Given the description of an element on the screen output the (x, y) to click on. 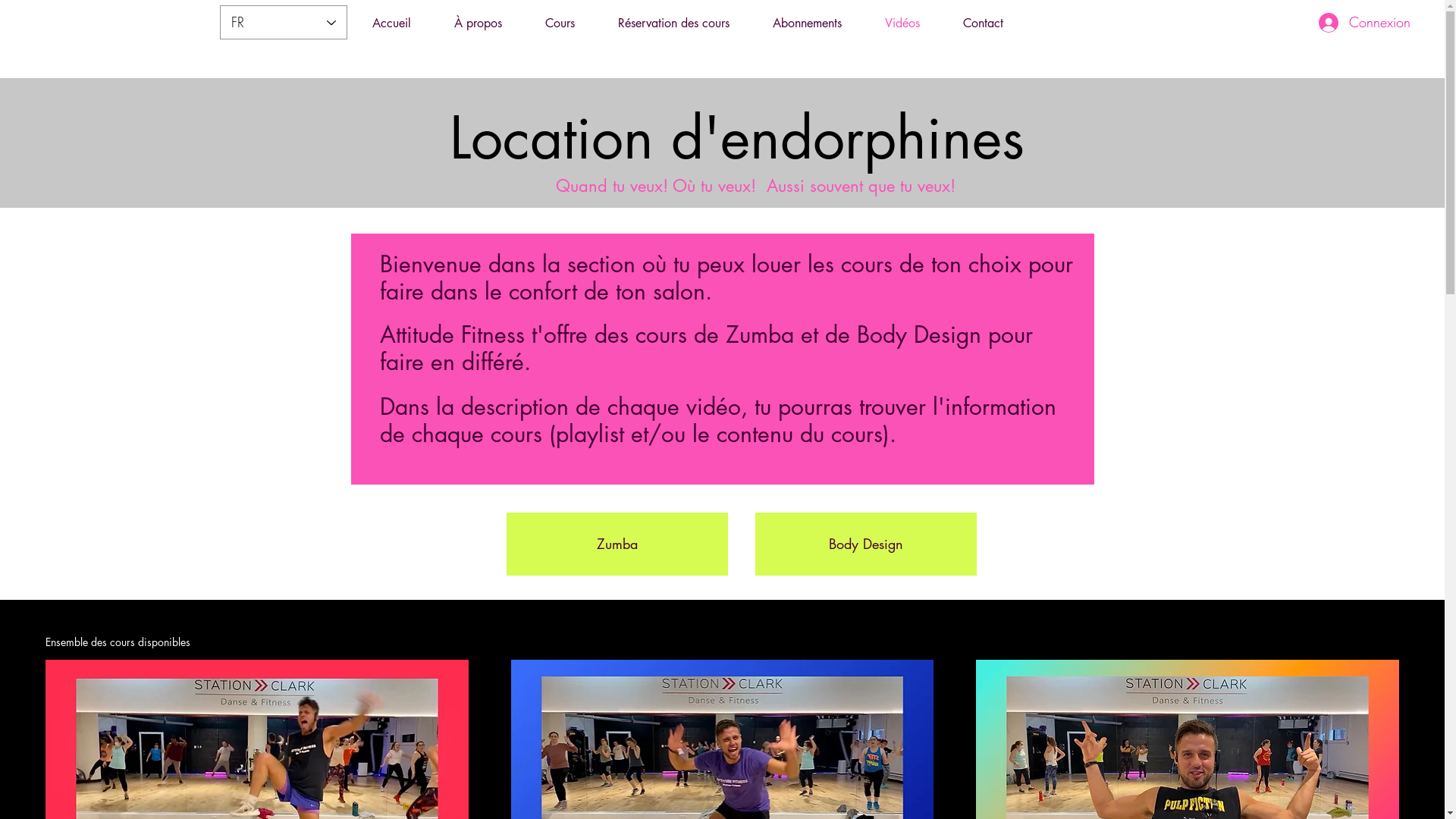
Connexion Element type: text (1364, 22)
Accueil Element type: text (391, 22)
Body Design Element type: text (865, 543)
Zumba Element type: text (617, 543)
Contact Element type: text (983, 22)
Abonnements Element type: text (806, 22)
